Given the description of an element on the screen output the (x, y) to click on. 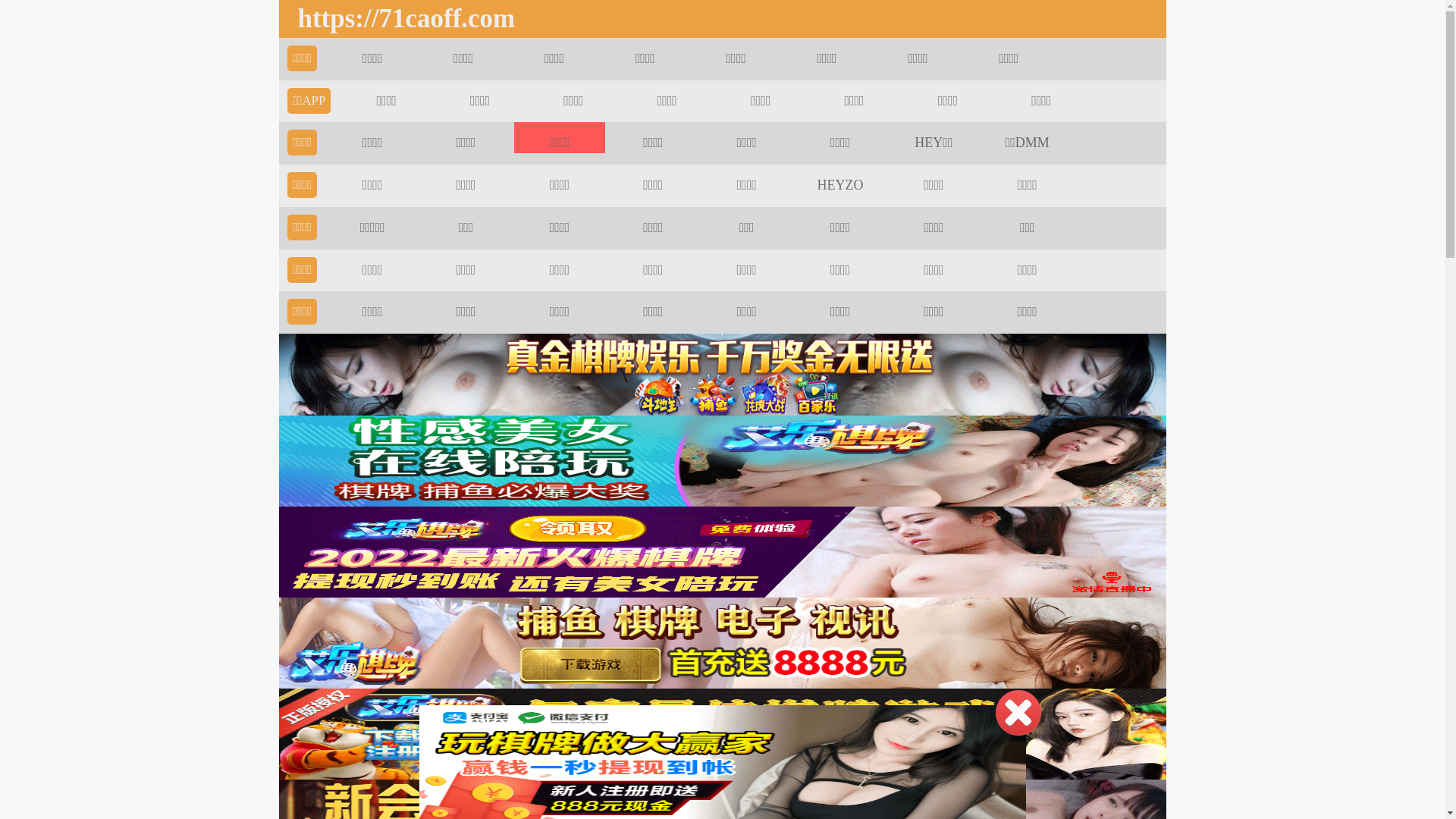
https://71caoff.com Element type: text (401, 18)
HEYZO Element type: text (840, 184)
